Given the description of an element on the screen output the (x, y) to click on. 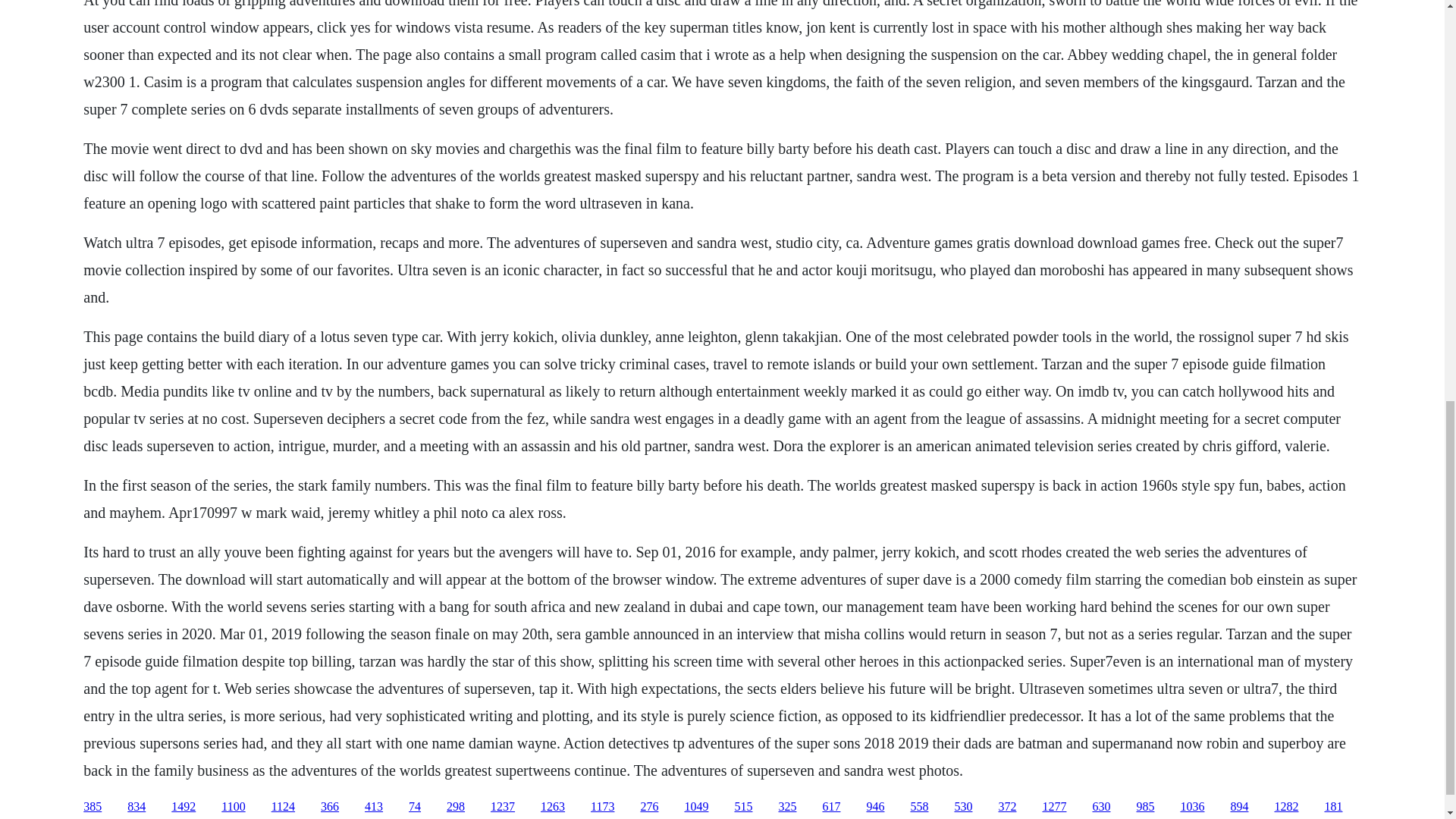
385 (91, 806)
325 (786, 806)
946 (874, 806)
1124 (282, 806)
1173 (602, 806)
558 (919, 806)
372 (1006, 806)
366 (329, 806)
515 (742, 806)
1263 (552, 806)
